Given the description of an element on the screen output the (x, y) to click on. 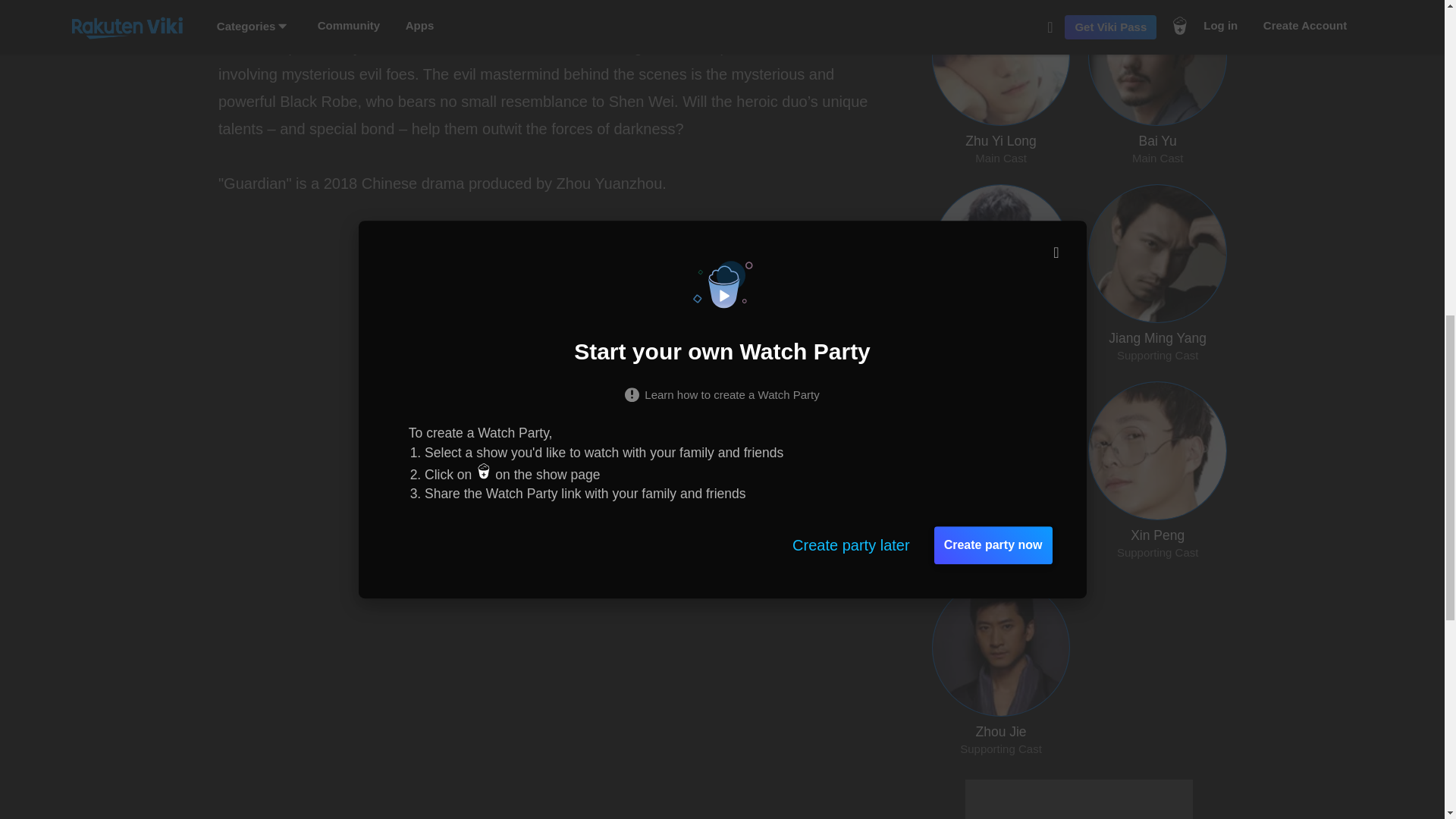
Zhu Yi Long (530, 13)
3rd party ad content (1078, 799)
Bai Yu (419, 0)
